Given the description of an element on the screen output the (x, y) to click on. 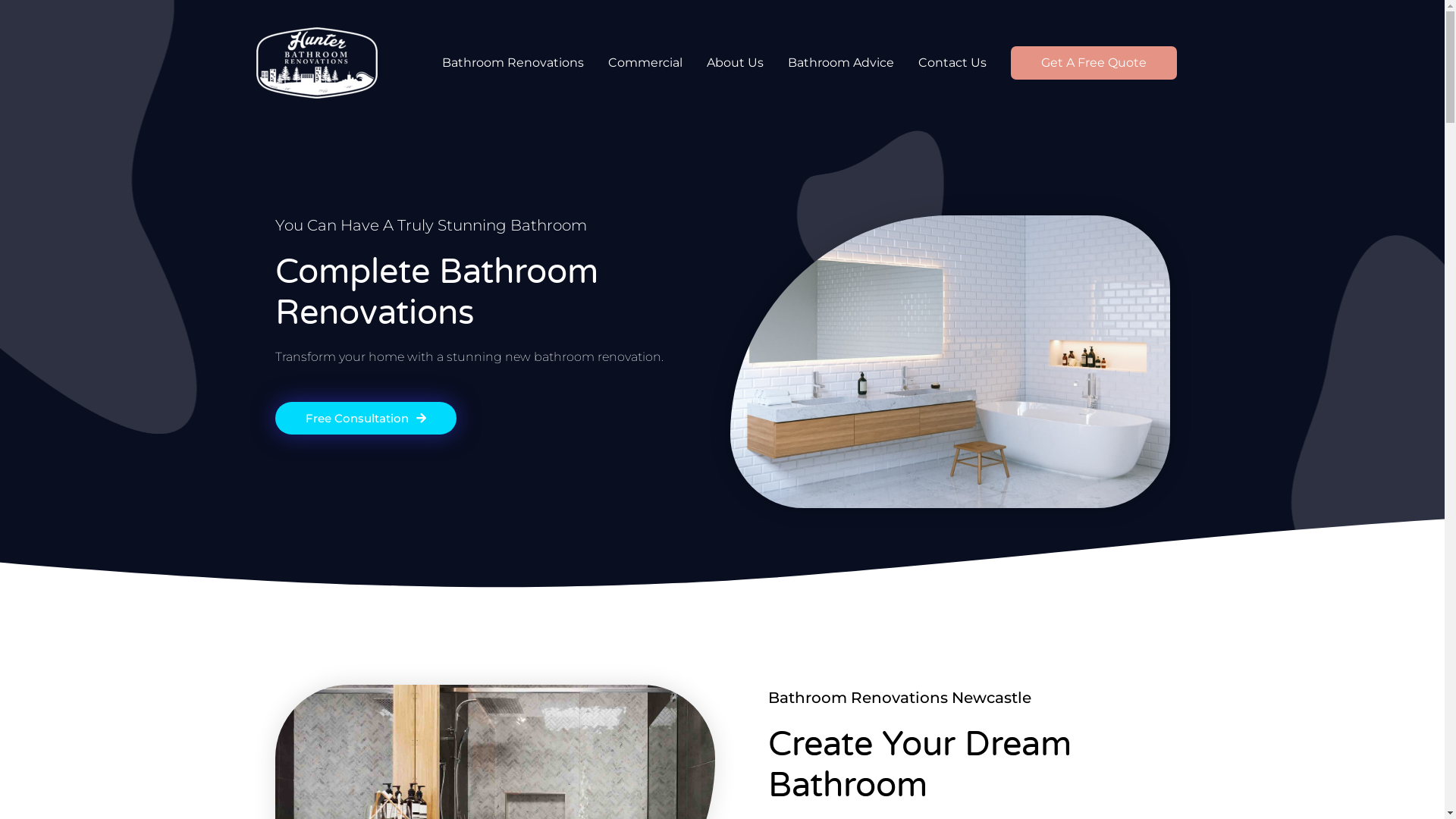
Free Consultation Element type: text (364, 417)
Bathroom Renovations Element type: text (512, 62)
Commercial Element type: text (645, 62)
Get A Free Quote Element type: text (1093, 62)
HOME 23 Element type: hover (949, 361)
Bathroom Advice Element type: text (840, 62)
Contact Us Element type: text (951, 62)
About Us Element type: text (734, 62)
